Given the description of an element on the screen output the (x, y) to click on. 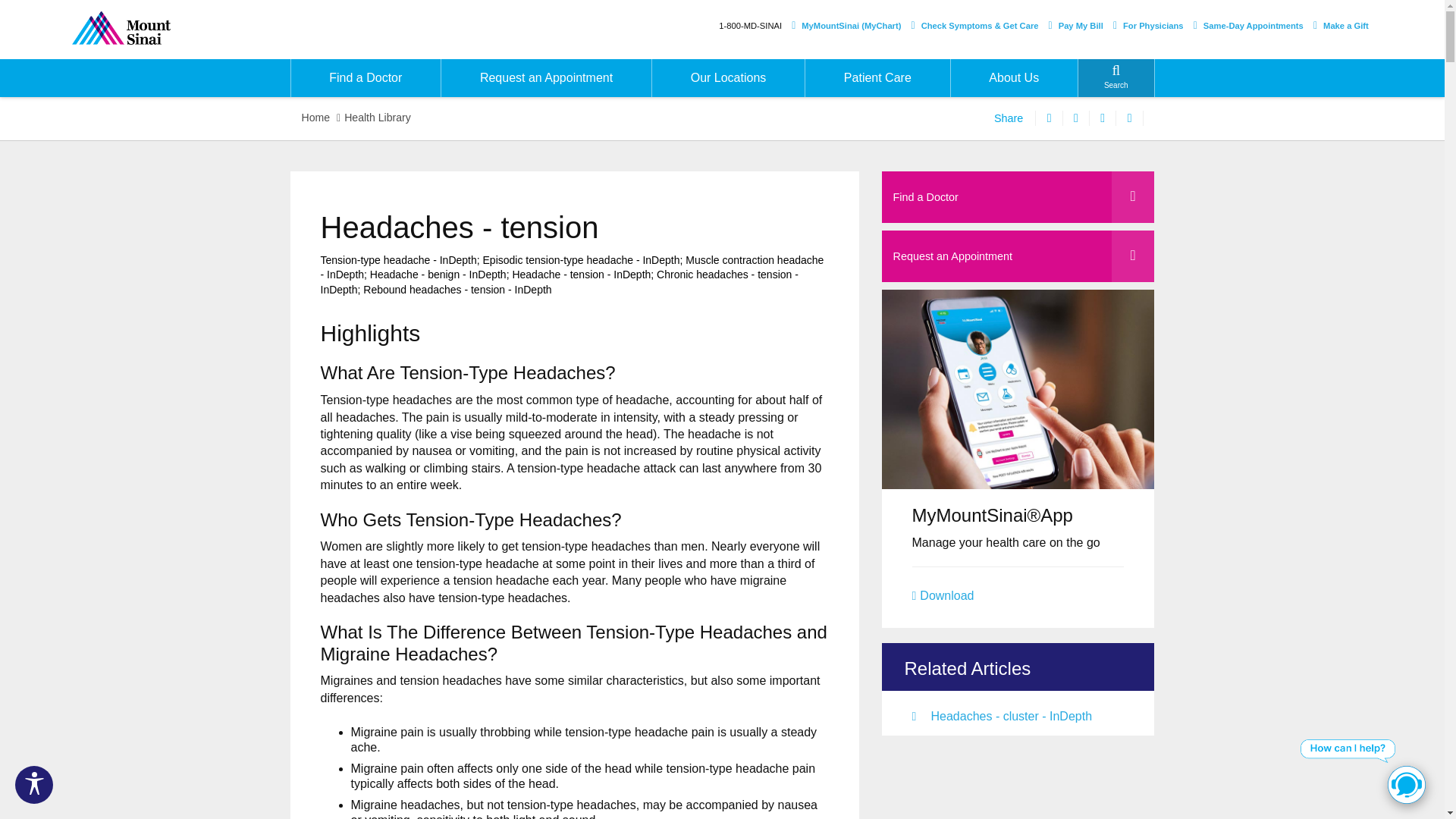
Accessibility Menu (33, 784)
Request an Appointment (545, 77)
Patient Care (877, 77)
Find a Doctor (366, 77)
Our Locations (728, 77)
